Given the description of an element on the screen output the (x, y) to click on. 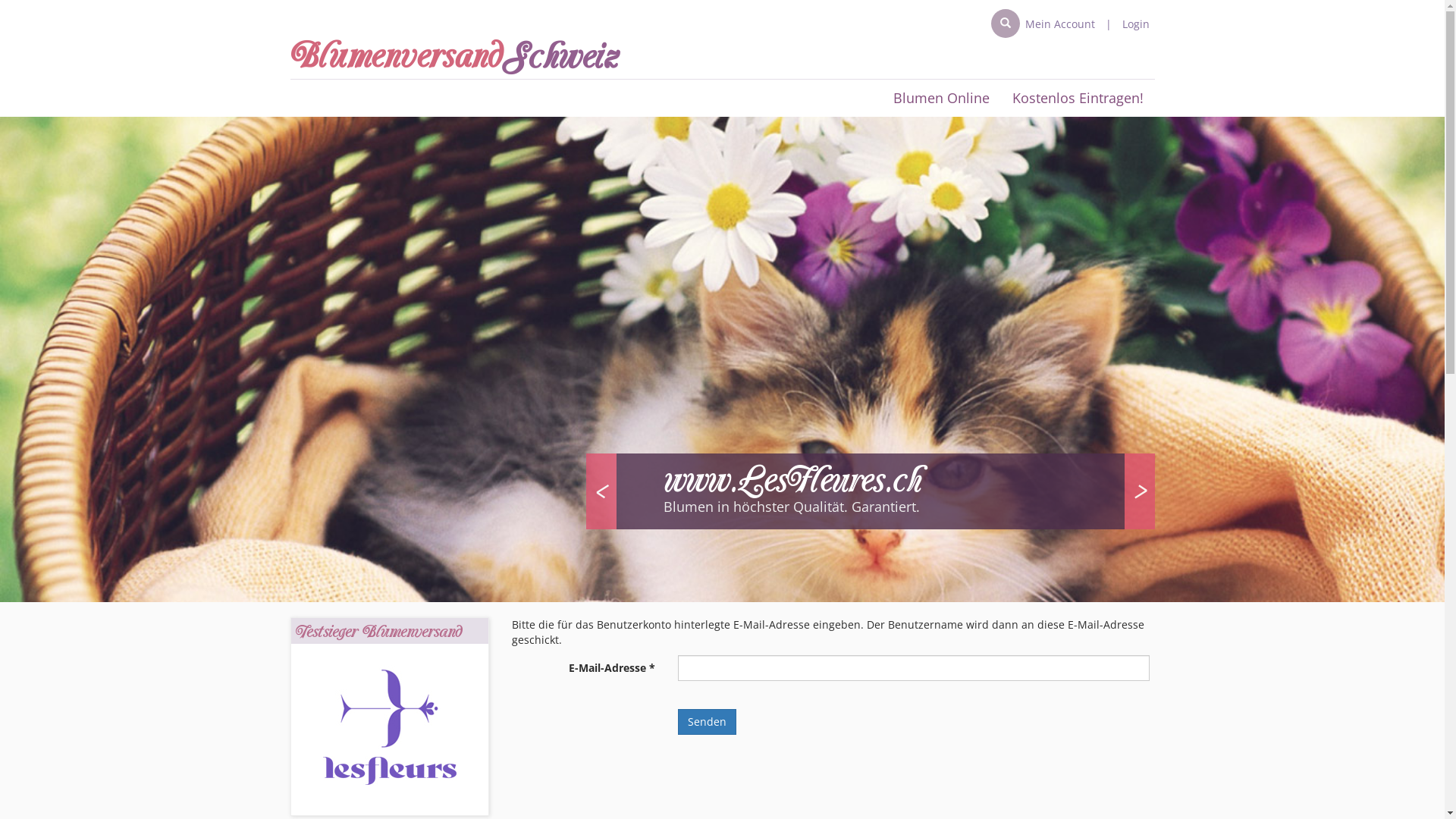
Blumen Online Element type: text (940, 97)
Mein Account Element type: text (1060, 23)
< Element type: text (600, 491)
Login Element type: text (1135, 23)
Senden Element type: text (706, 721)
Kostenlos Eintragen! Element type: text (1077, 97)
> Element type: text (1138, 491)
www.LesFleures.ch Element type: text (791, 480)
